Given the description of an element on the screen output the (x, y) to click on. 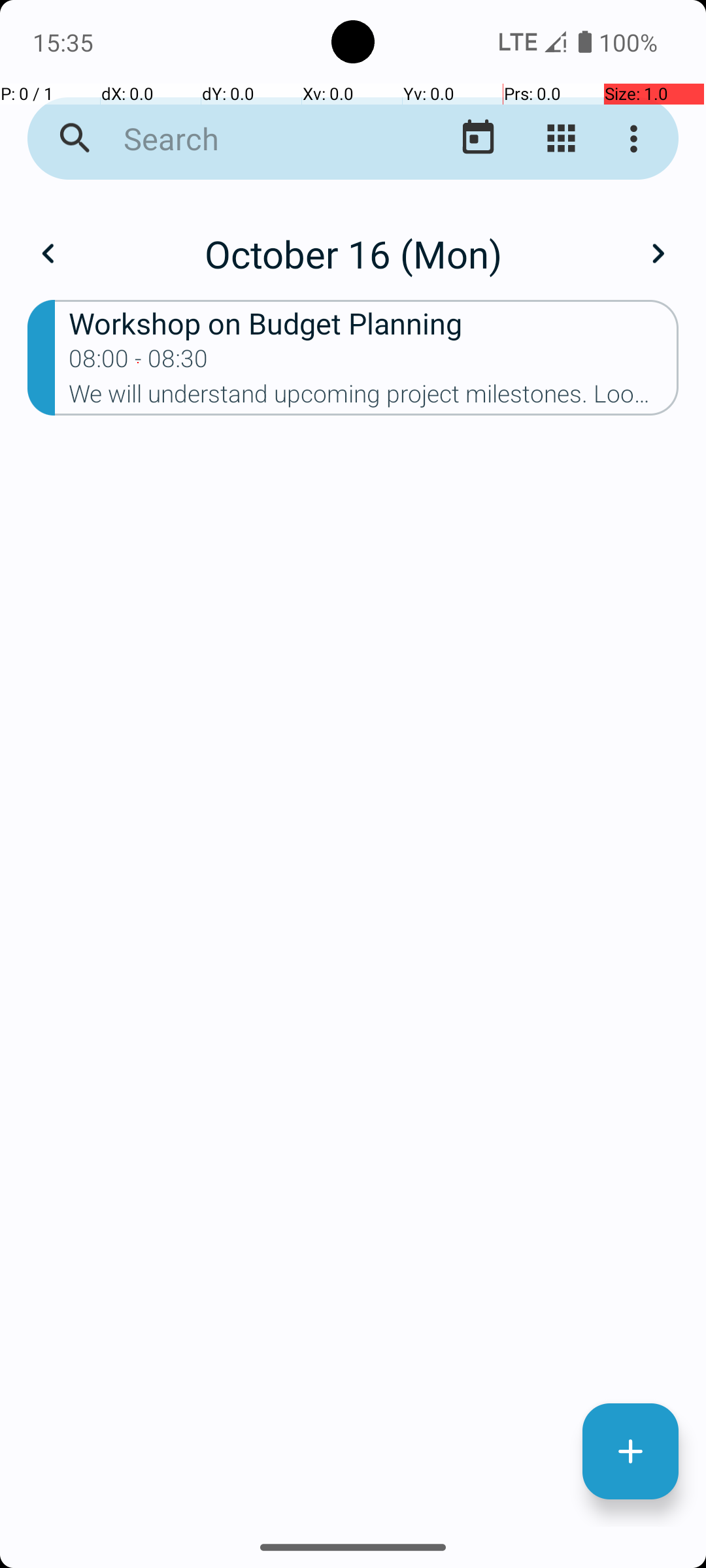
Workshop on Budget Planning Element type: android.widget.TextView (373, 321)
08:00 - 08:30 Element type: android.widget.TextView (137, 362)
We will understand upcoming project milestones. Looking forward to productive discussions. Element type: android.widget.TextView (373, 397)
